Given the description of an element on the screen output the (x, y) to click on. 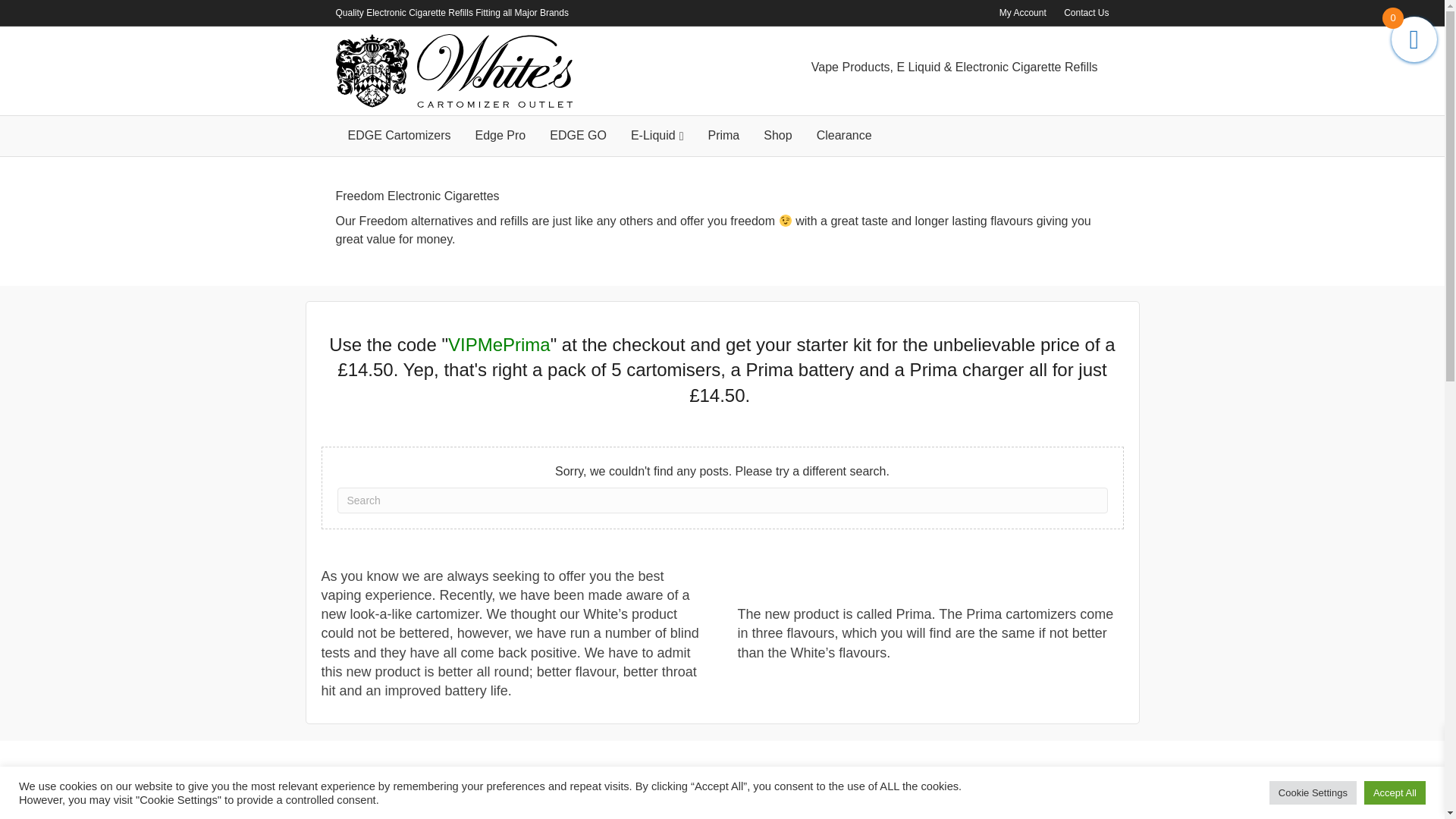
Clearance (844, 135)
Type and press Enter to search. (721, 500)
Edge Pro (500, 135)
E-Liquid (656, 136)
My Account (1022, 13)
Prima (723, 135)
Contact Us (1086, 13)
EDGE GO (577, 135)
Shop (777, 135)
EDGE Cartomizers (398, 135)
